Given the description of an element on the screen output the (x, y) to click on. 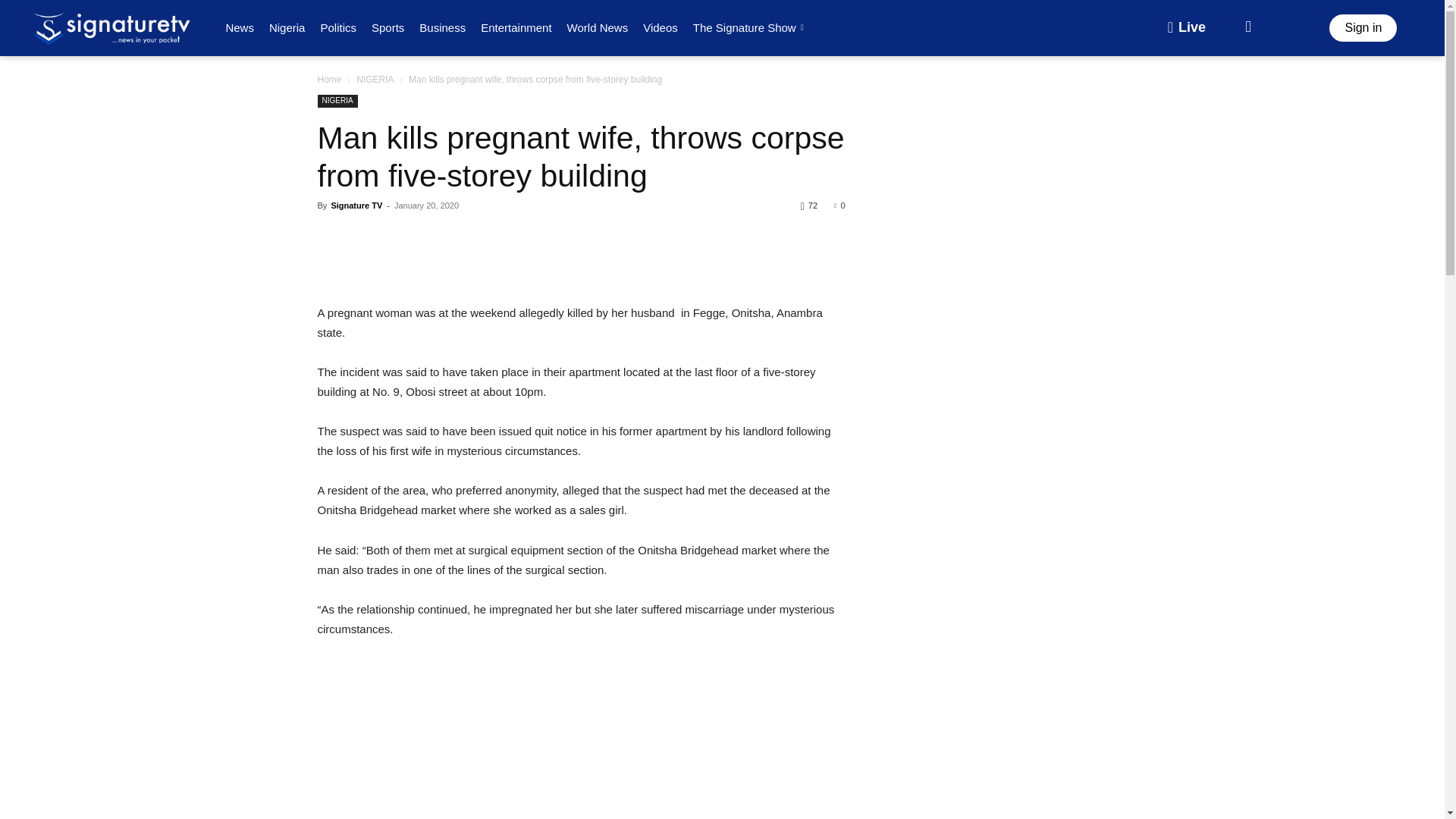
Live (1186, 28)
Entertainment (516, 27)
Politics (338, 27)
Business (442, 27)
News (239, 27)
View all posts in NIGERIA (374, 79)
Videos (659, 27)
Sign in (1362, 27)
The Signature Show (750, 27)
Nigeria (287, 27)
